Given the description of an element on the screen output the (x, y) to click on. 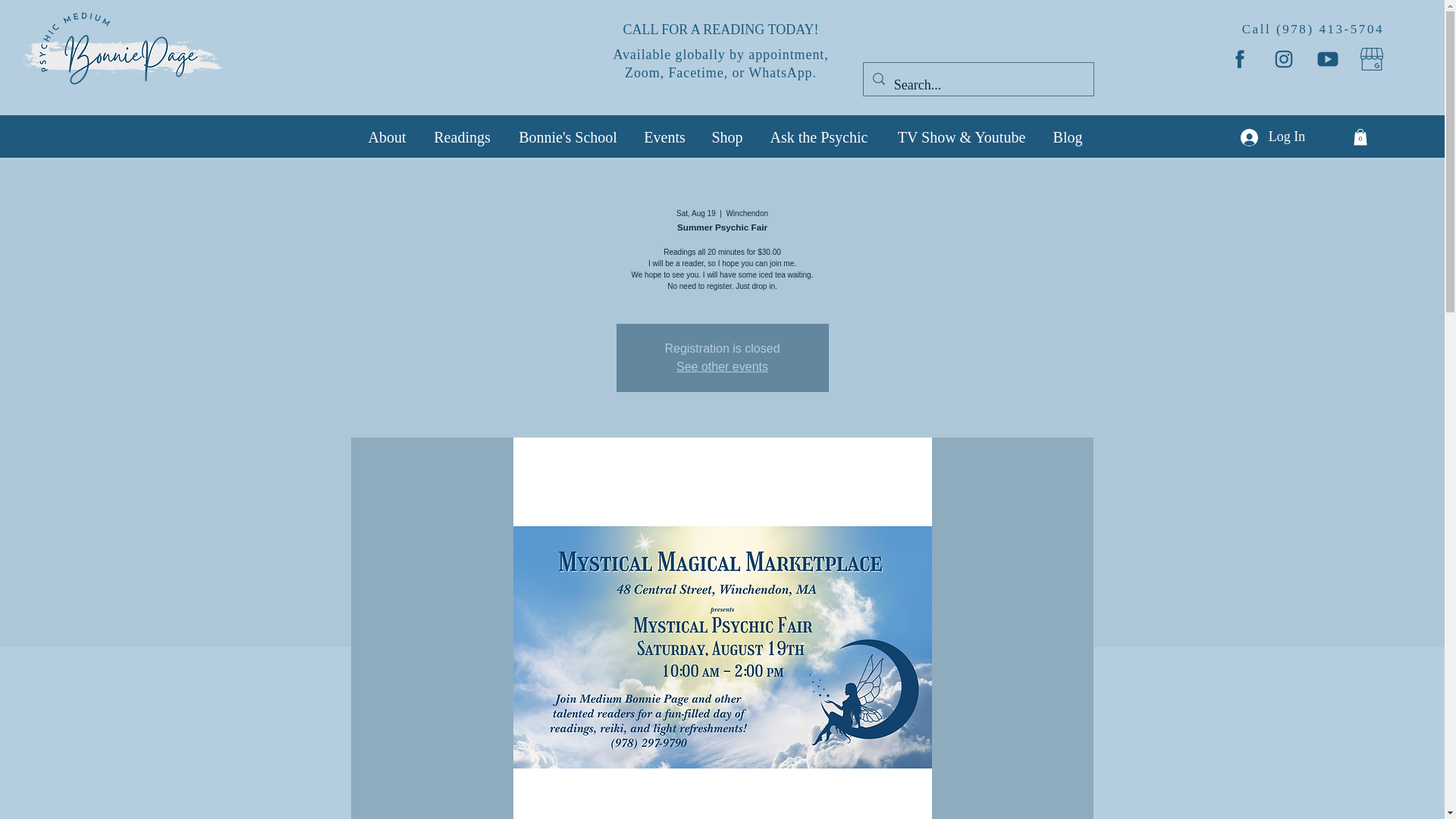
Shop (726, 137)
Events (664, 137)
About (387, 137)
Readings (462, 137)
Log In (1273, 137)
Ask the Psychic (818, 137)
See other events (722, 366)
Bonnie's School (567, 137)
Blog (1067, 137)
